Given the description of an element on the screen output the (x, y) to click on. 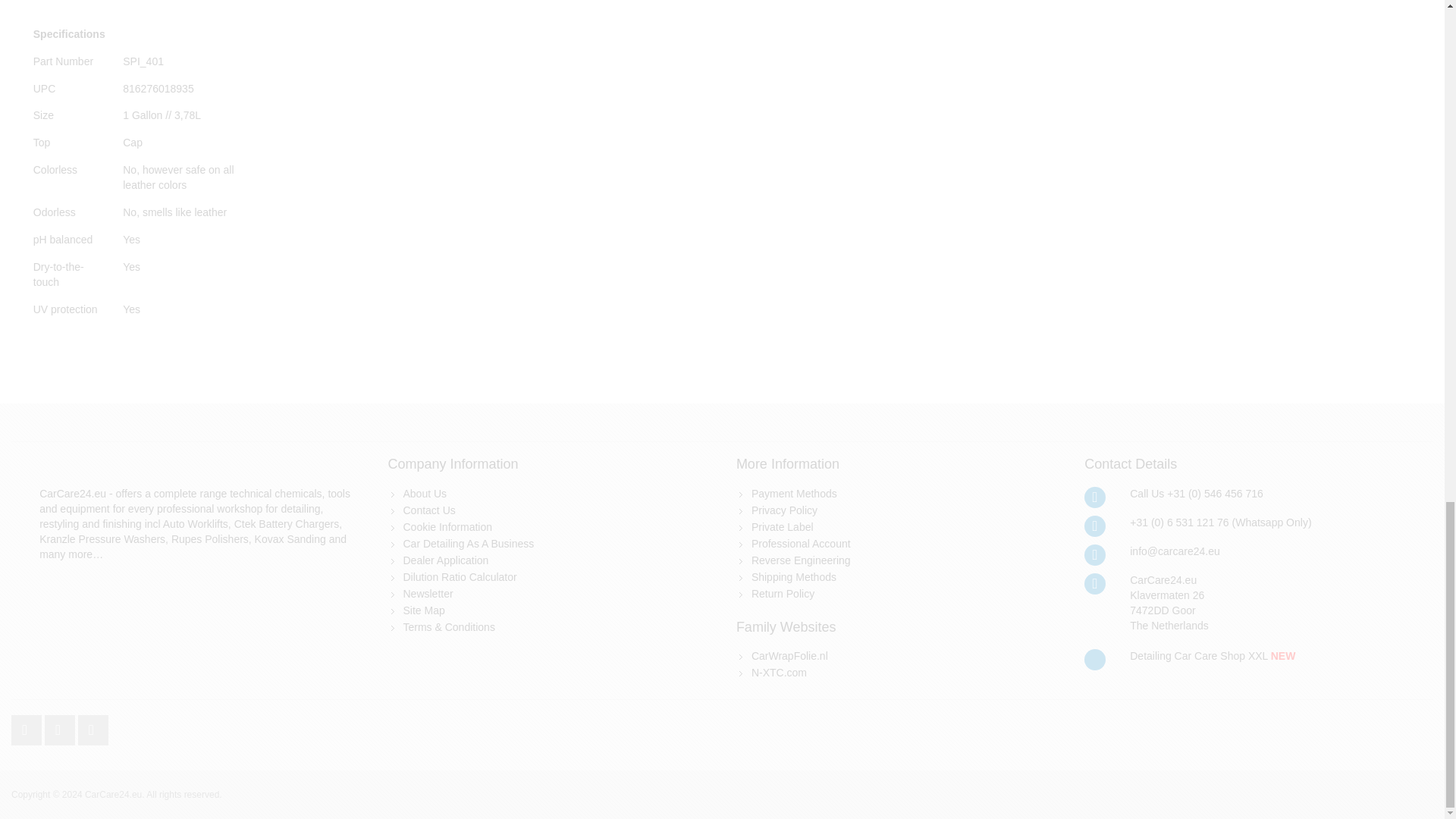
Youtube Channel (92, 726)
Instagram (61, 726)
Car Care 24 (72, 493)
Facebook (28, 726)
